Given the description of an element on the screen output the (x, y) to click on. 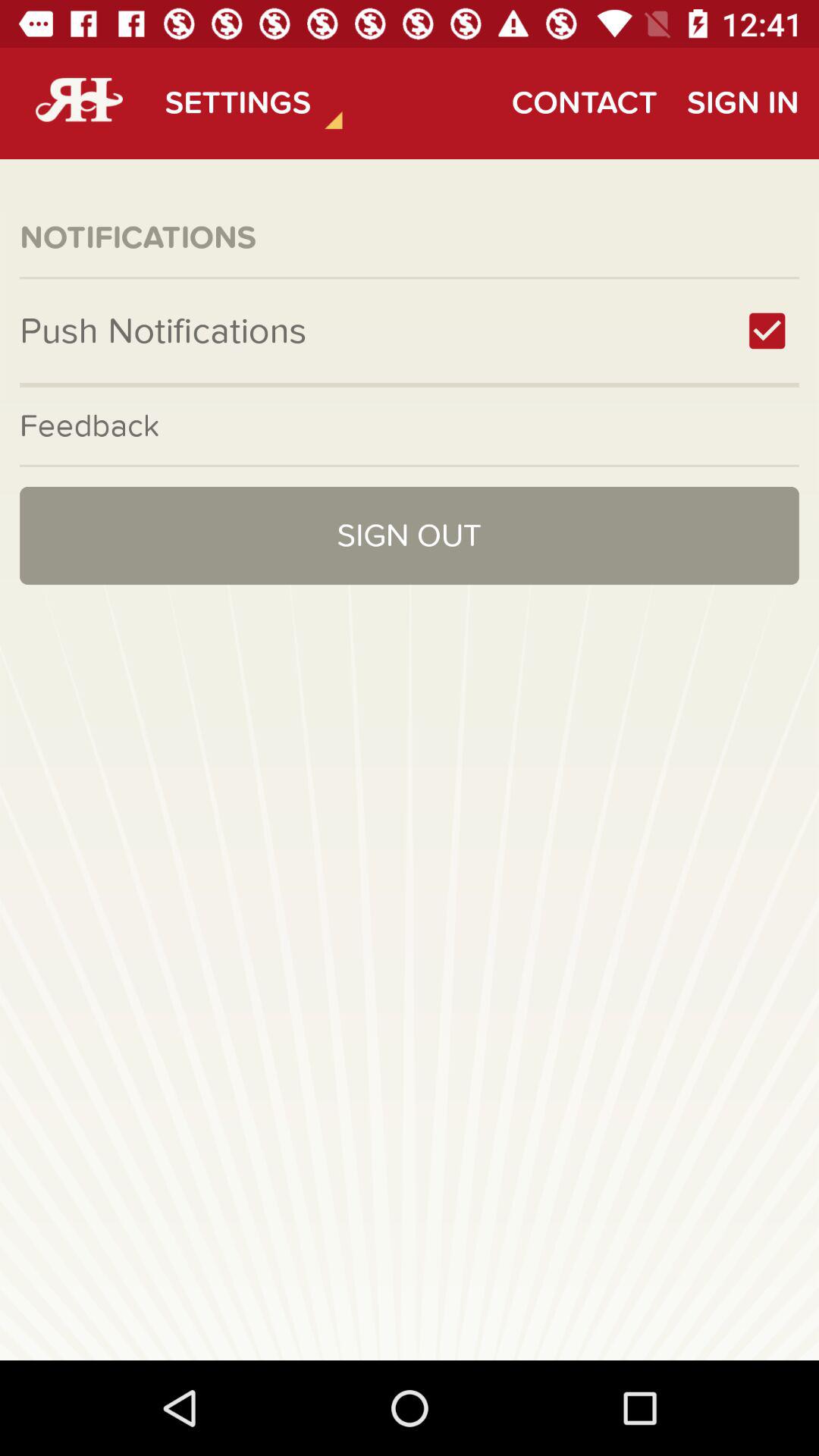
scroll until the sign in item (743, 103)
